Given the description of an element on the screen output the (x, y) to click on. 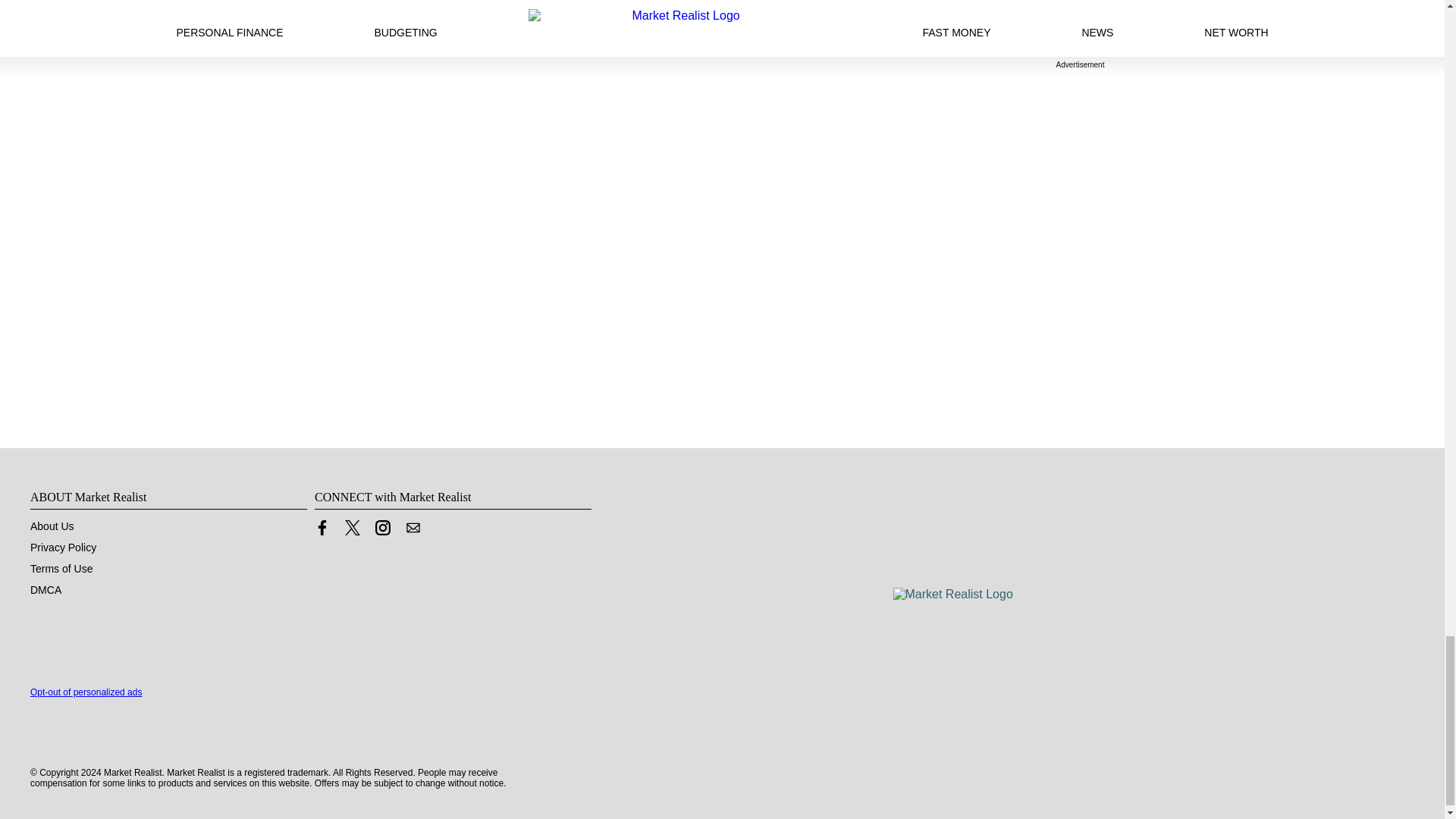
Link to Facebook (322, 527)
DMCA (45, 589)
Privacy Policy (63, 547)
Terms of Use (61, 568)
DMCA (45, 589)
Link to Facebook (322, 531)
Contact us by Email (413, 527)
Link to X (352, 527)
Privacy Policy (63, 547)
Opt-out of personalized ads (85, 692)
Link to X (352, 531)
Link to Instagram (382, 531)
About Us (52, 526)
About Us (52, 526)
Link to Instagram (382, 527)
